Given the description of an element on the screen output the (x, y) to click on. 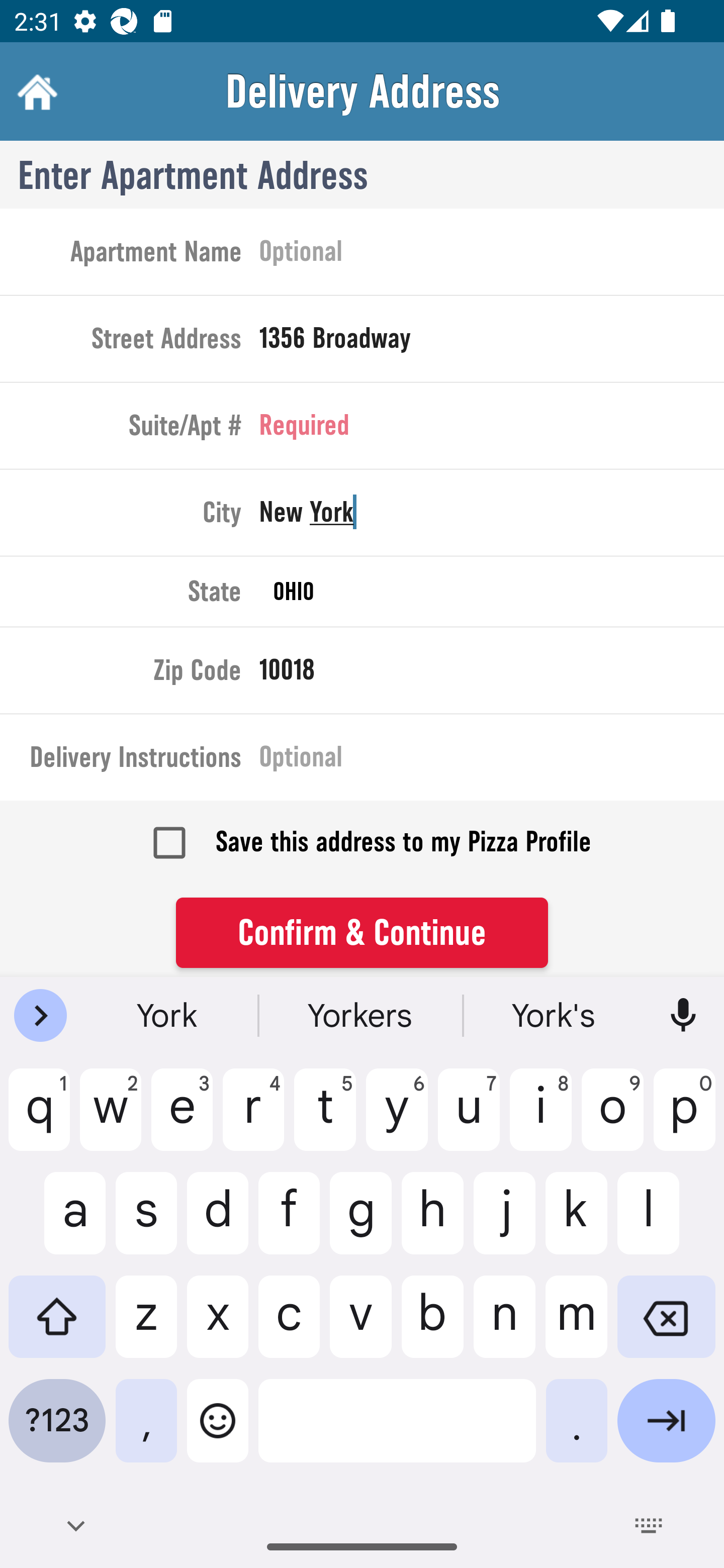
Home (35, 91)
Optional (491, 255)
1356 Broadway (491, 342)
Required (491, 428)
New York (491, 515)
OHIO (491, 591)
10018 (491, 673)
Optional (491, 761)
Confirm & Continue (361, 931)
